Given the description of an element on the screen output the (x, y) to click on. 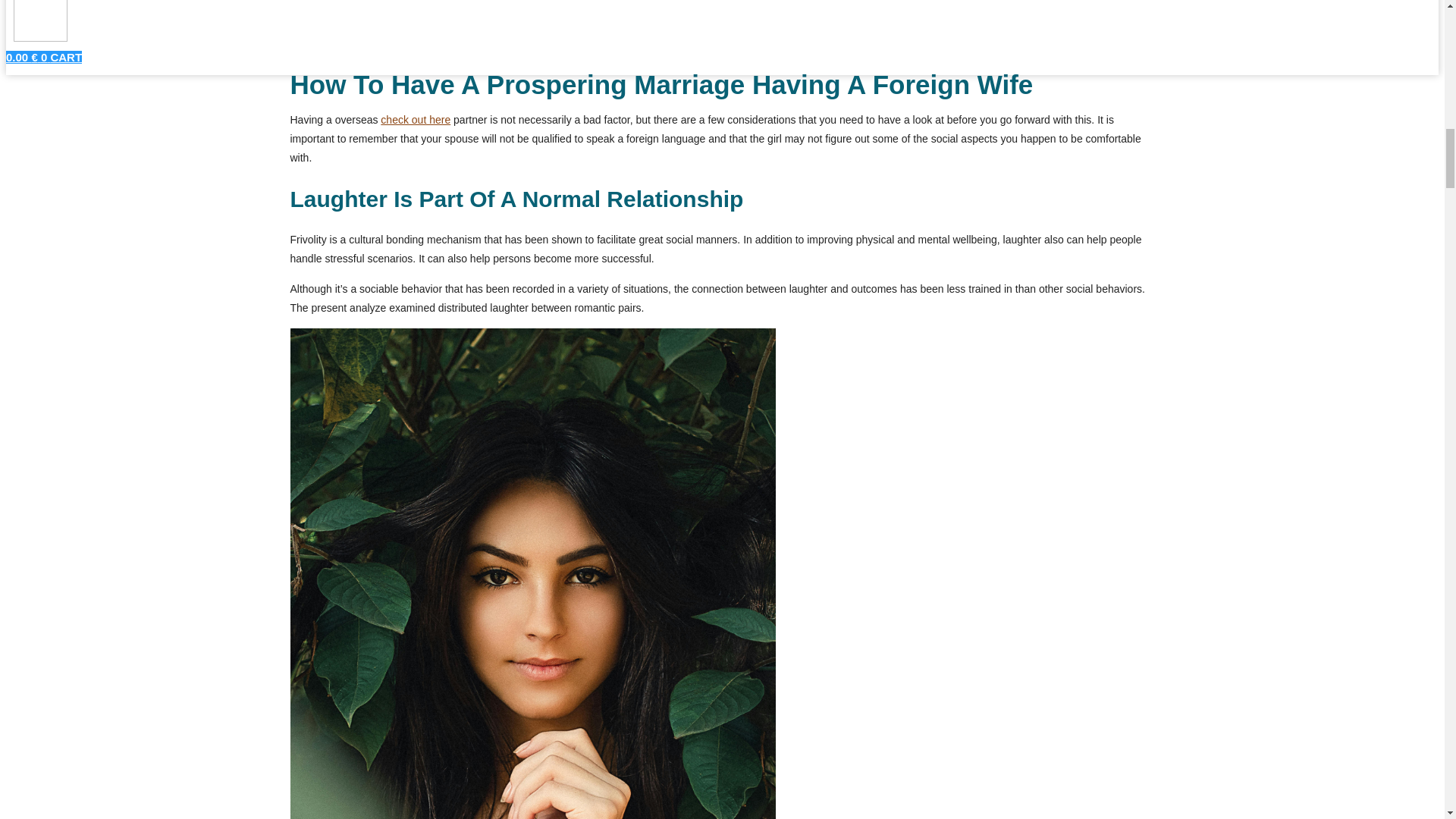
check out here (414, 119)
